Given the description of an element on the screen output the (x, y) to click on. 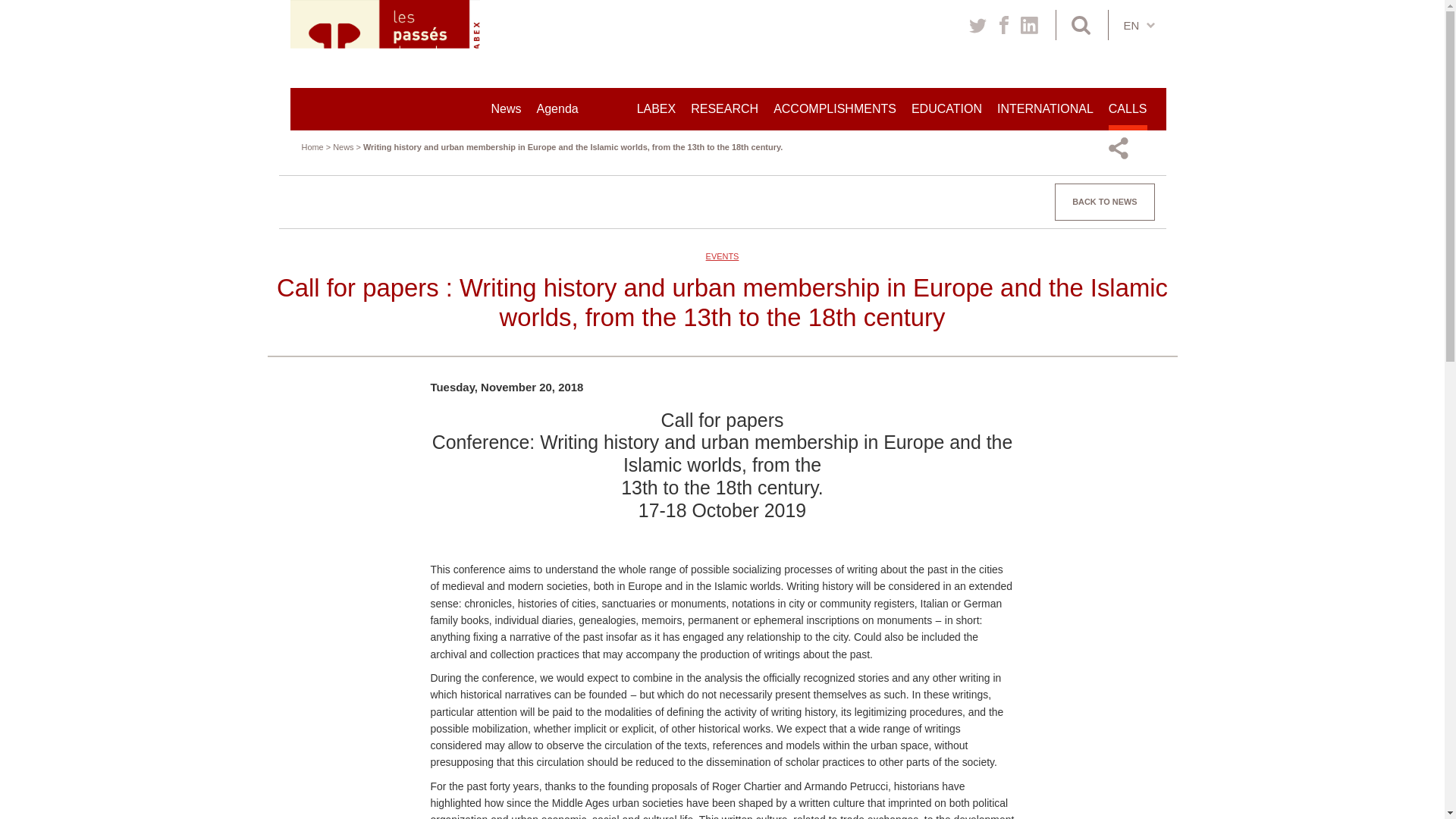
Accueil Labex (390, 42)
LABEX (657, 108)
RESEARCH (724, 108)
Agenda (557, 108)
